Given the description of an element on the screen output the (x, y) to click on. 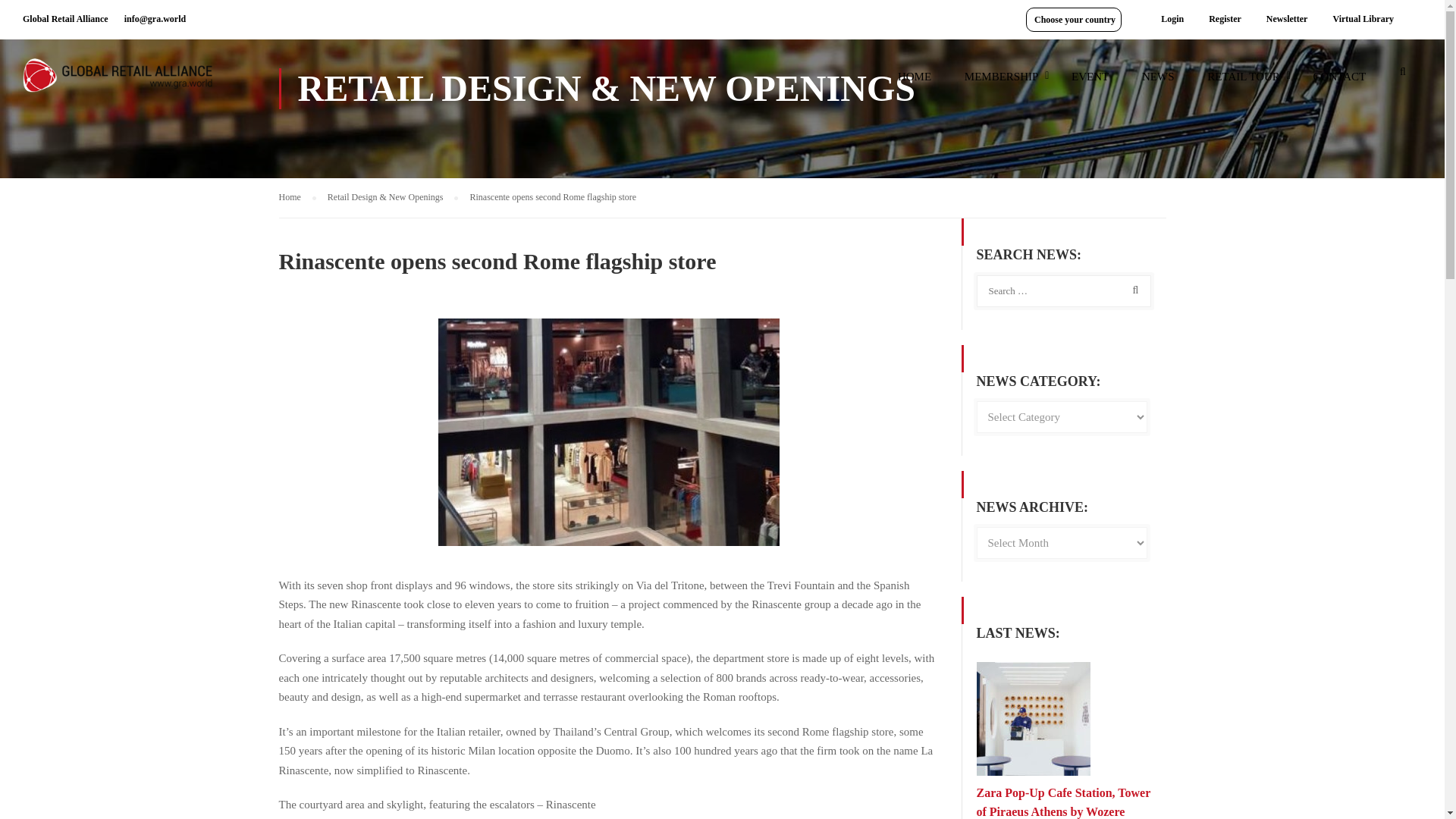
RETAIL TOUR (1243, 83)
Home (297, 197)
Login (1172, 18)
NEWS (1157, 83)
Virtual Library (1362, 18)
Rinascente opens second Rome flagship store (552, 196)
Search (1403, 76)
Search (1132, 290)
EVENT (1090, 83)
Register (1224, 18)
